Given the description of an element on the screen output the (x, y) to click on. 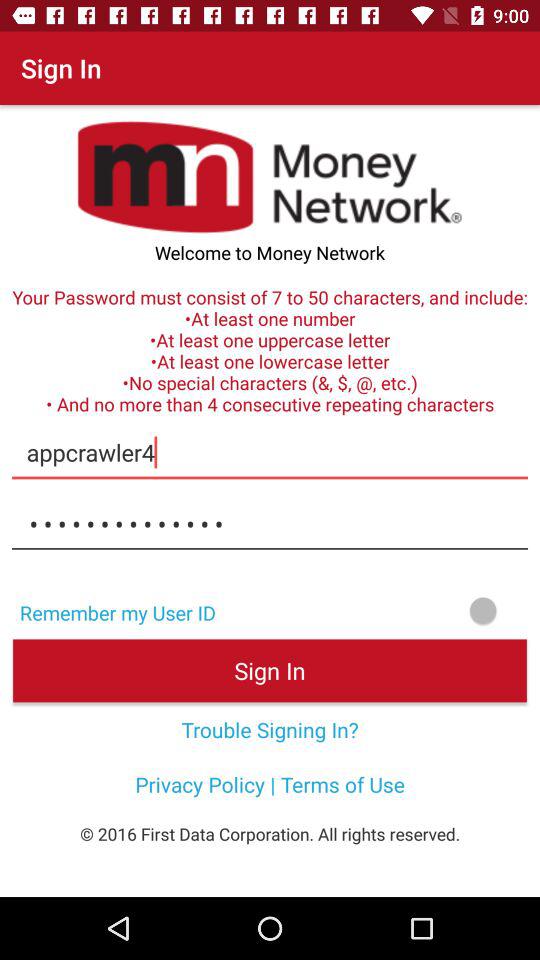
tap icon above the remember my user item (269, 523)
